Given the description of an element on the screen output the (x, y) to click on. 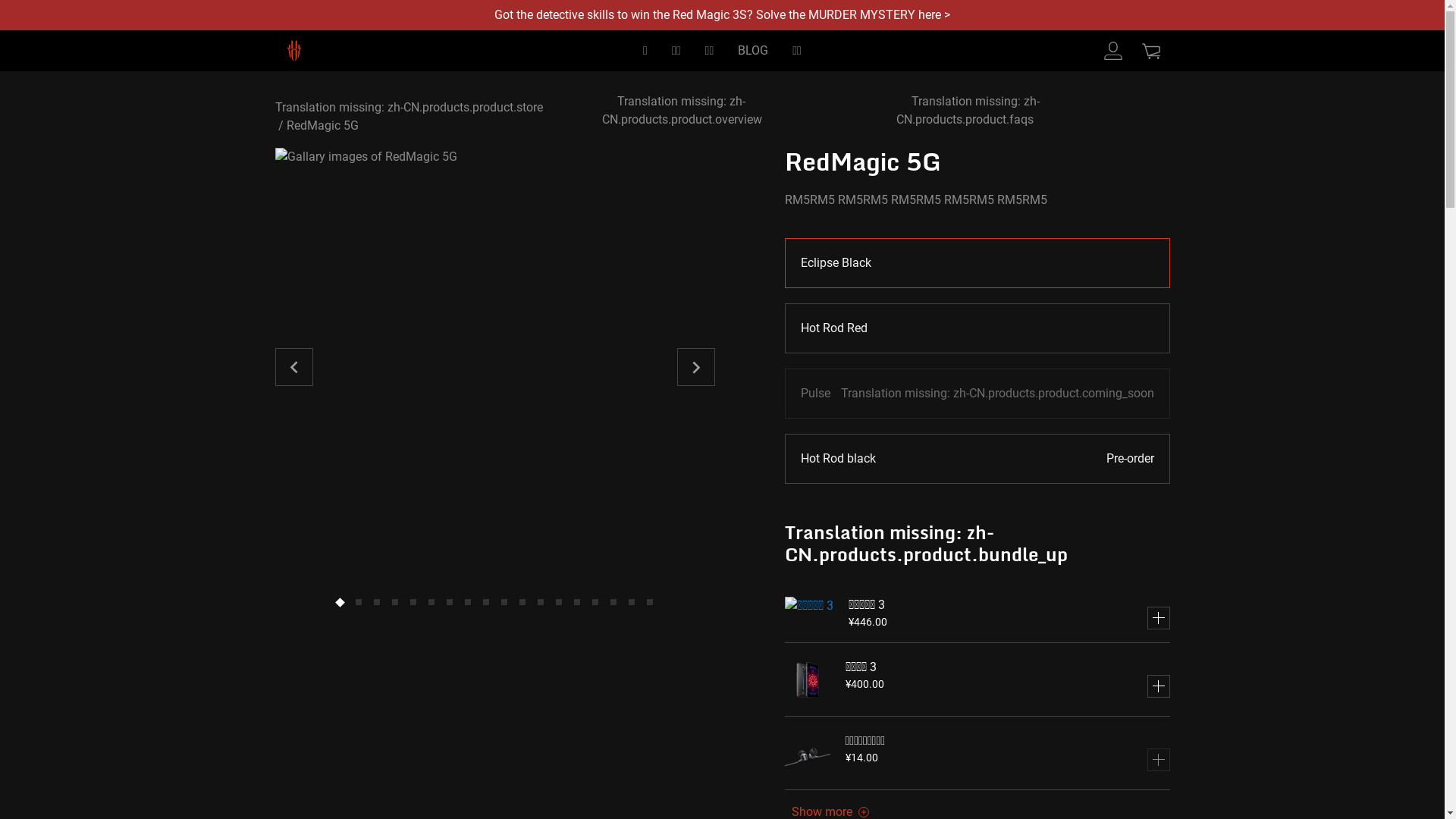
Translation missing: zh-CN.products.product.store Element type: text (408, 107)
BLOG Element type: text (752, 50)
Translation missing: zh-CN.products.product.faqs Element type: text (972, 110)
Translation missing: zh-CN.products.product.overview Element type: text (689, 110)
